Given the description of an element on the screen output the (x, y) to click on. 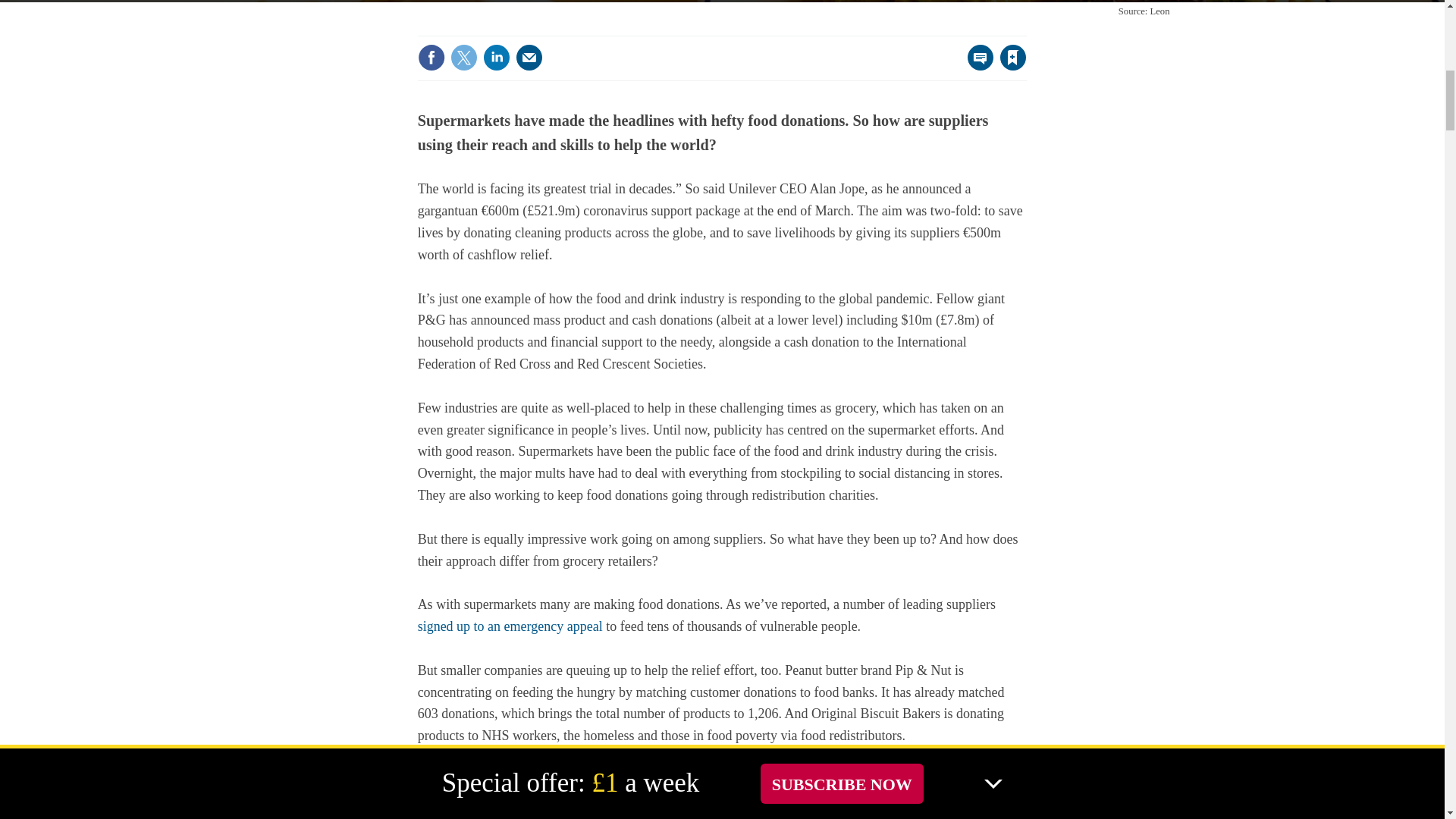
Email this article (529, 57)
Share this on Twitter (463, 57)
No comments (976, 66)
Share this on Facebook (431, 57)
Share this on Linked in (497, 57)
